Given the description of an element on the screen output the (x, y) to click on. 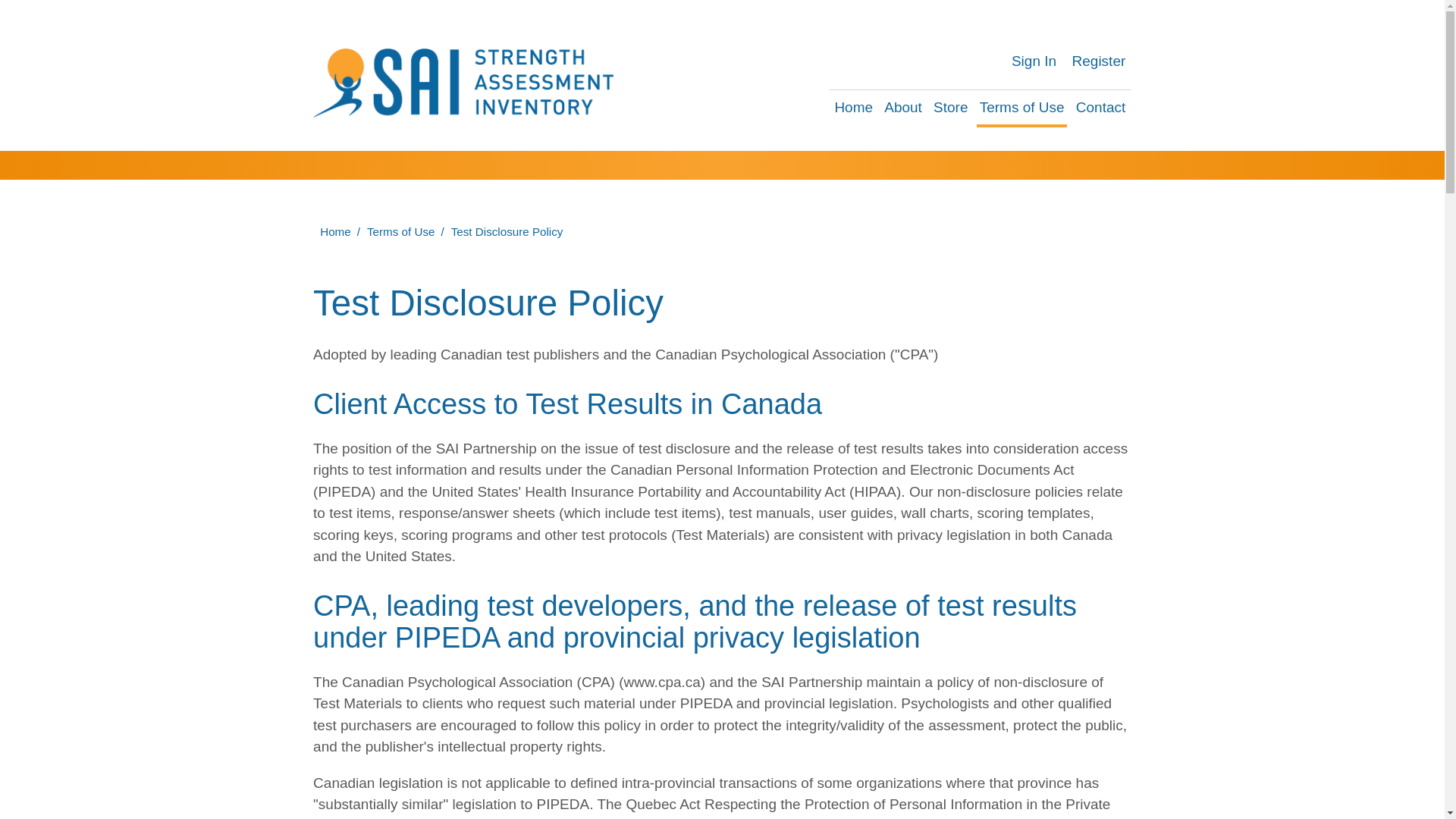
Home (336, 231)
Home (853, 108)
Terms of Use (401, 231)
About (902, 108)
Register (1098, 61)
Terms of Use (1021, 108)
Sign In (1034, 61)
Contact (1100, 108)
Test Disclosure Policy (508, 231)
Store (950, 108)
